Given the description of an element on the screen output the (x, y) to click on. 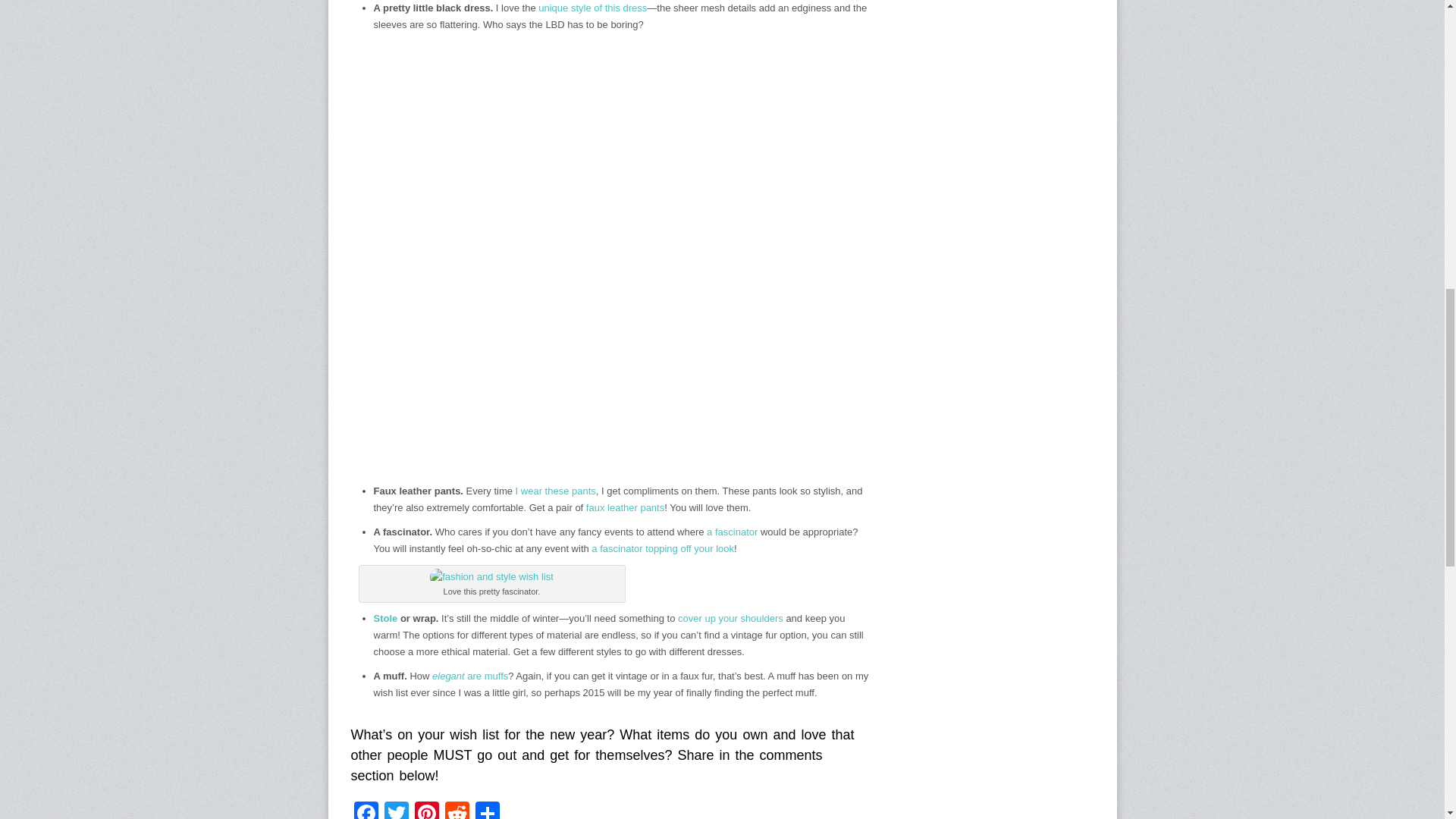
faux leather pants (624, 507)
Facebook (365, 810)
I wear these pants (555, 490)
Twitter (395, 810)
Facebook (365, 810)
unique style of this dress (592, 7)
Pinterest (425, 810)
Pinterest (425, 810)
elegant are muffs (470, 675)
Reddit (456, 810)
